Given the description of an element on the screen output the (x, y) to click on. 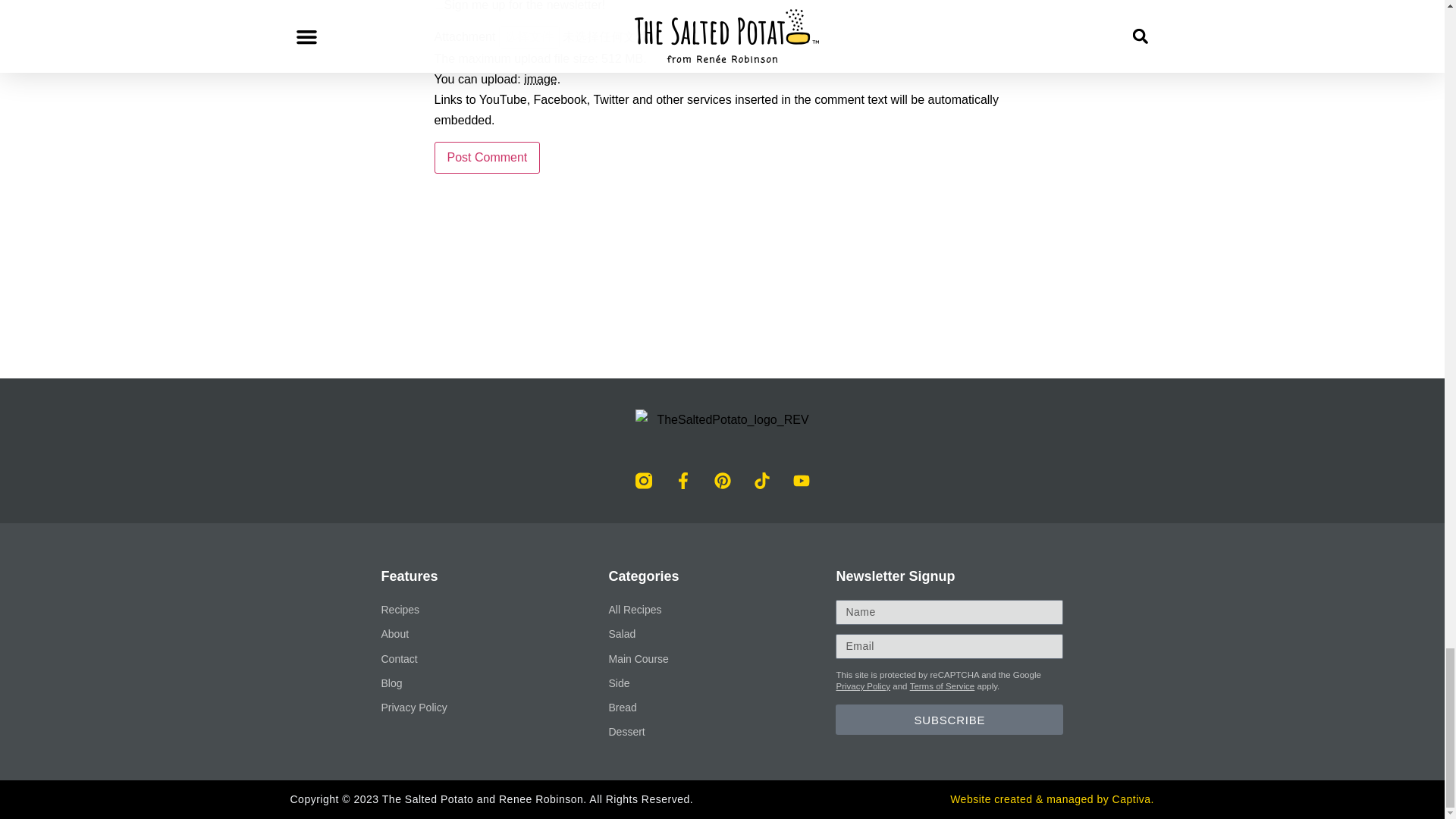
About (494, 634)
Privacy Policy (494, 707)
Side (721, 683)
jpg, jpeg, gif, png, webp, ico, heic (540, 78)
Salad (721, 634)
Dessert (721, 731)
Terms of Service (942, 686)
Recipes (494, 609)
Blog (494, 683)
All Recipes (721, 609)
Contact (494, 659)
Privacy Policy (862, 686)
1 (438, 4)
Post Comment (486, 157)
Post Comment (486, 157)
